Given the description of an element on the screen output the (x, y) to click on. 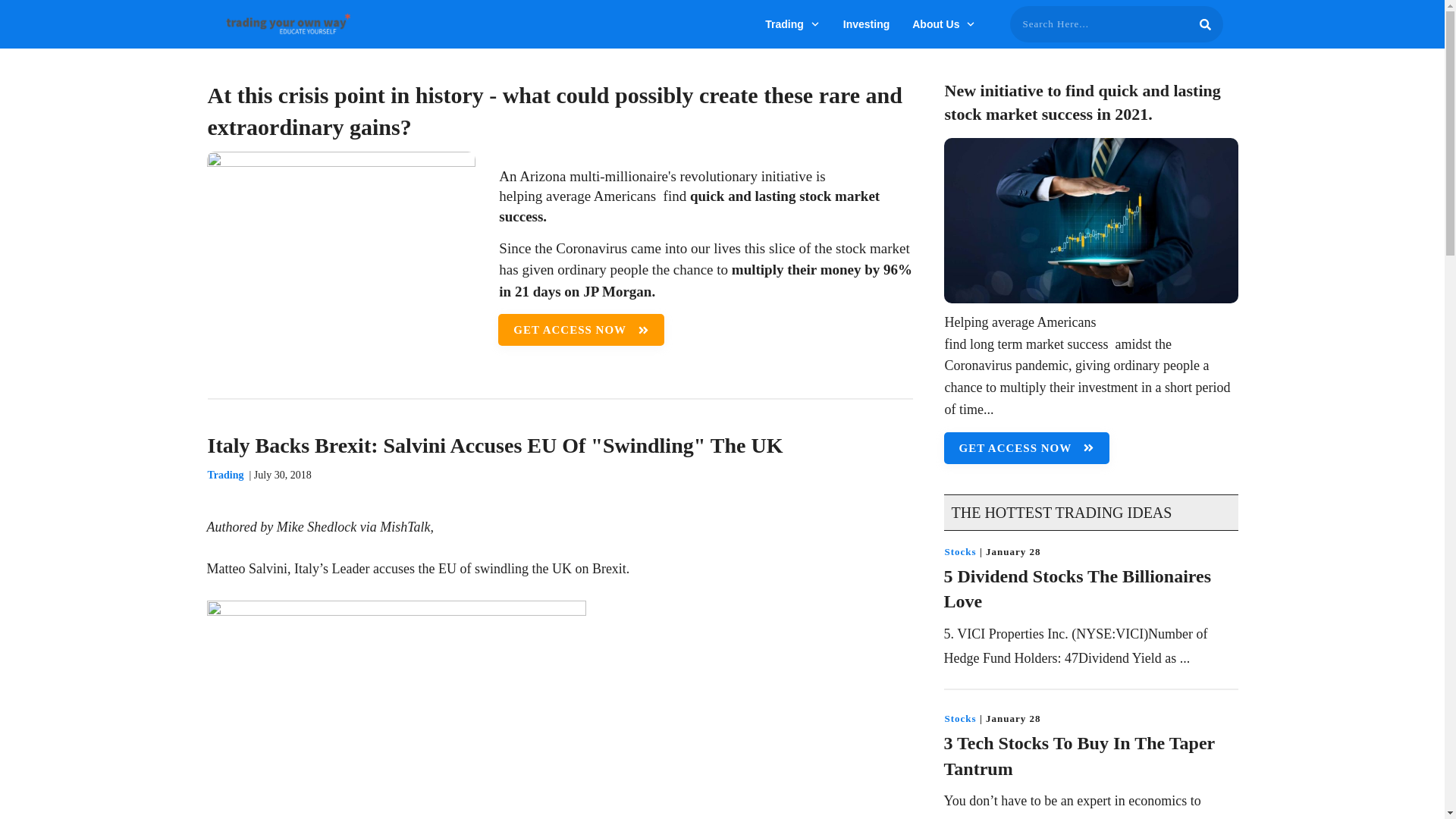
Stocks (960, 551)
Trading (793, 24)
JPM-Stock (341, 259)
GET ACCESS NOW (1026, 448)
3 Tech Stocks To Buy In The Taper Tantrum (1078, 755)
About Us (943, 24)
5 Dividend Stocks The Billionaires Love (1077, 588)
growth-man-chart-1024x576-1 (1090, 220)
Authored by Mike Shedlock via MishTalk, (319, 526)
Stocks (960, 717)
5 Dividend Stocks The Billionaires Love (1077, 588)
GET ACCESS NOW (580, 329)
Stocks (960, 717)
Trading (226, 474)
Italy Backs Brexit: Salvini Accuses EU Of "Swindling" The UK (495, 445)
